Given the description of an element on the screen output the (x, y) to click on. 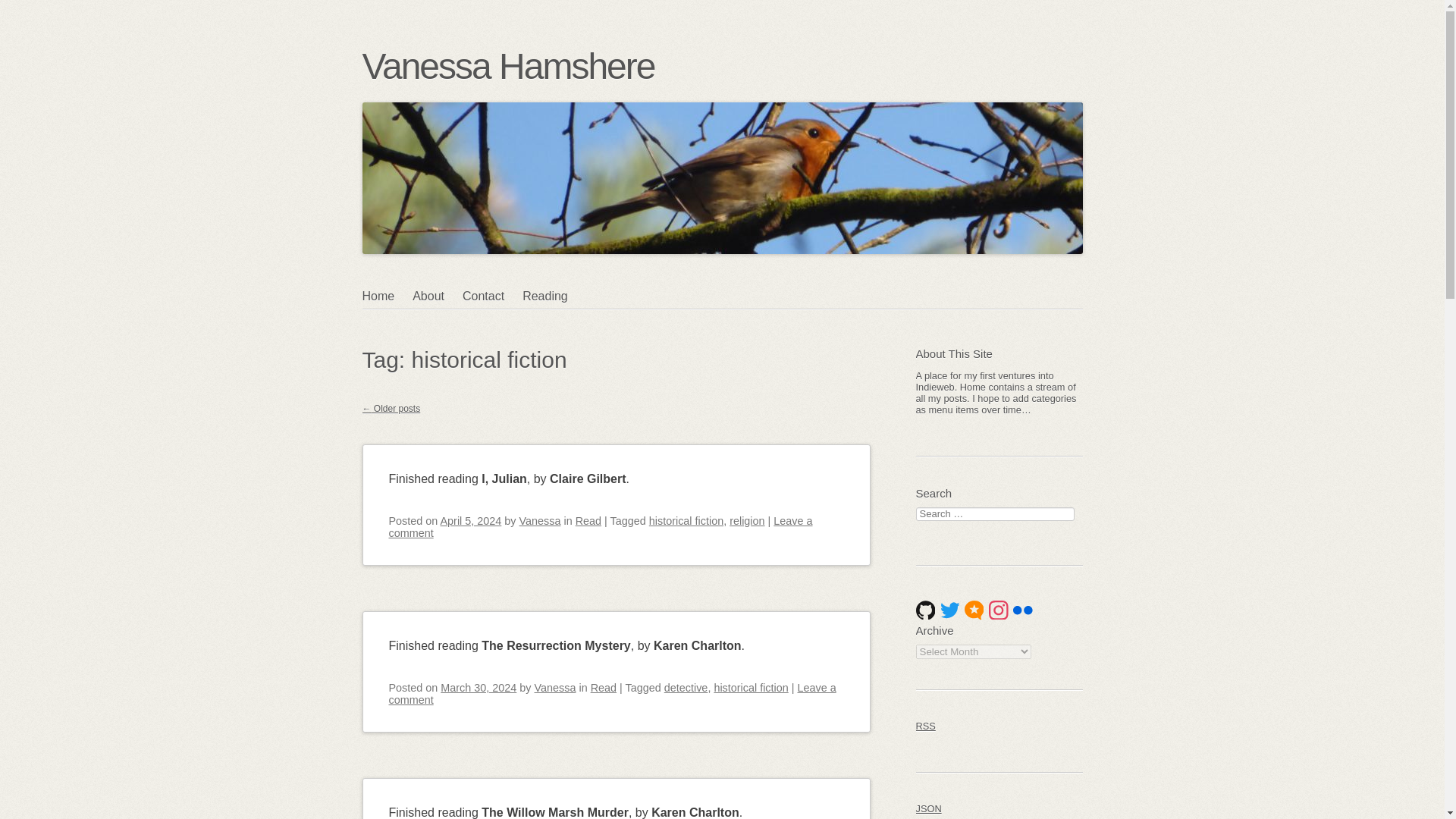
Vanessa Hamshere (508, 65)
Vanessa (539, 521)
religion (746, 521)
Reading (554, 296)
detective (685, 687)
Main menu (435, 325)
Read (588, 521)
historical fiction (686, 521)
Main menu (435, 325)
View all posts by Vanessa (539, 521)
historical fiction (750, 687)
Leave a comment (611, 693)
Vanessa (555, 687)
April 5, 2024 (471, 521)
March 30, 2024 (478, 687)
